Given the description of an element on the screen output the (x, y) to click on. 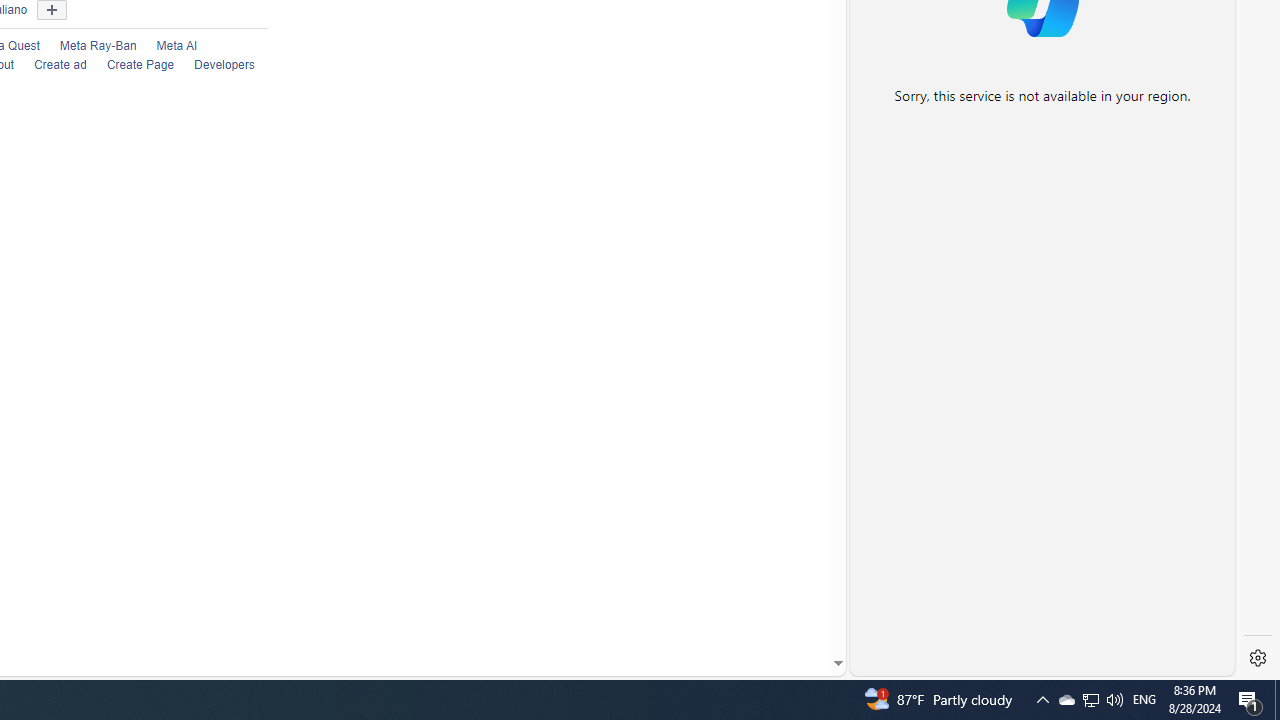
Create ad (60, 65)
Show more languages (52, 10)
Meta Ray-Ban (97, 45)
Meta AI (166, 46)
Create Page (140, 65)
Developers (224, 65)
Meta AI (177, 45)
Create Page (130, 66)
Create ad (49, 66)
Meta Ray-Ban (87, 46)
Settings (1258, 658)
Developers (214, 66)
